Given the description of an element on the screen output the (x, y) to click on. 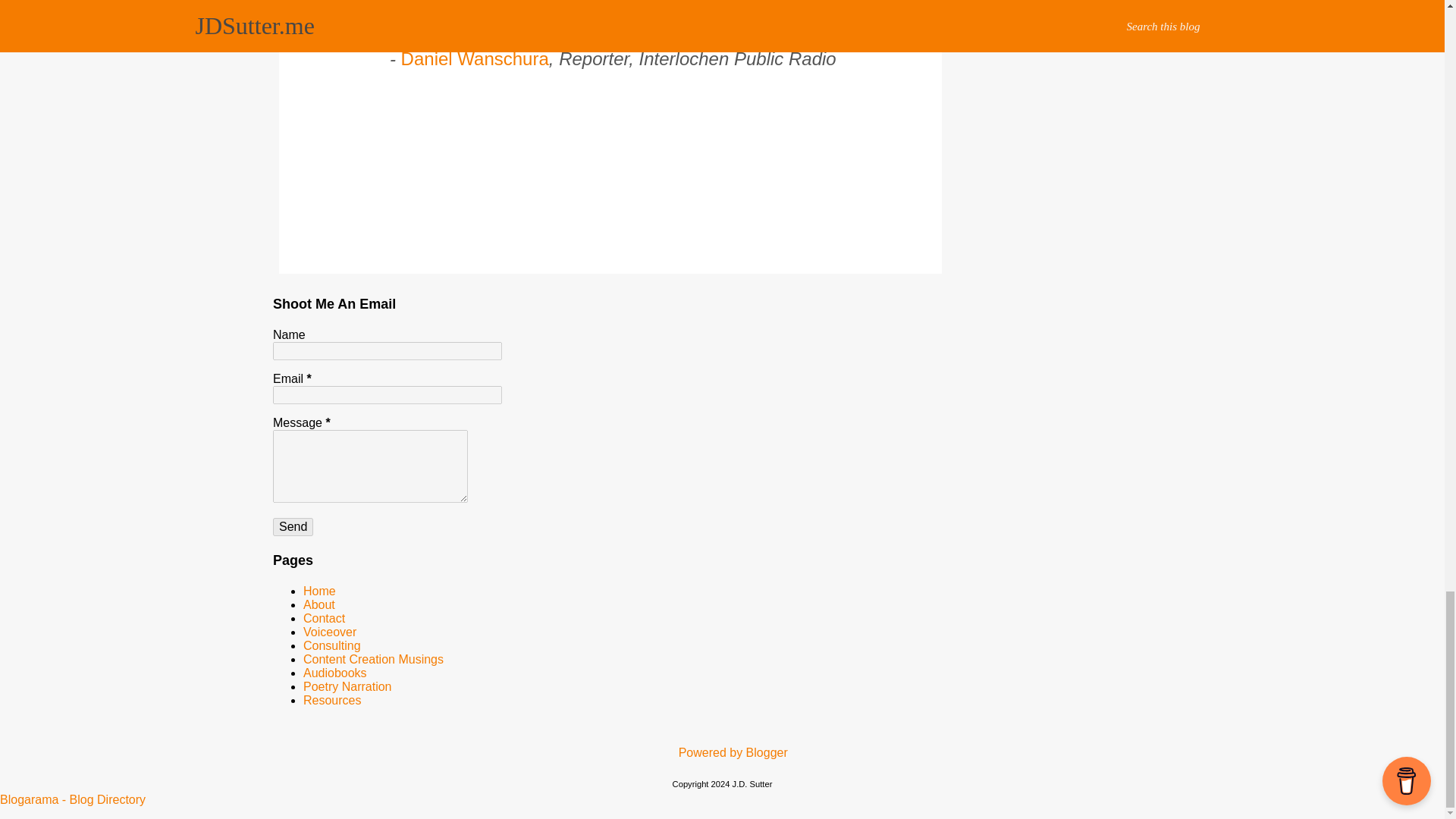
Send (293, 526)
Content Creation Musings (373, 658)
Consulting (331, 645)
Voiceover (329, 631)
Home (319, 590)
Blogarama.com - Follow me on Blogarama (72, 799)
Email Post (311, 127)
Audiobooks (334, 672)
Resources (331, 699)
Daniel Wanschura (474, 58)
Contact (323, 617)
Poetry Narration (346, 686)
About (318, 604)
